Given the description of an element on the screen output the (x, y) to click on. 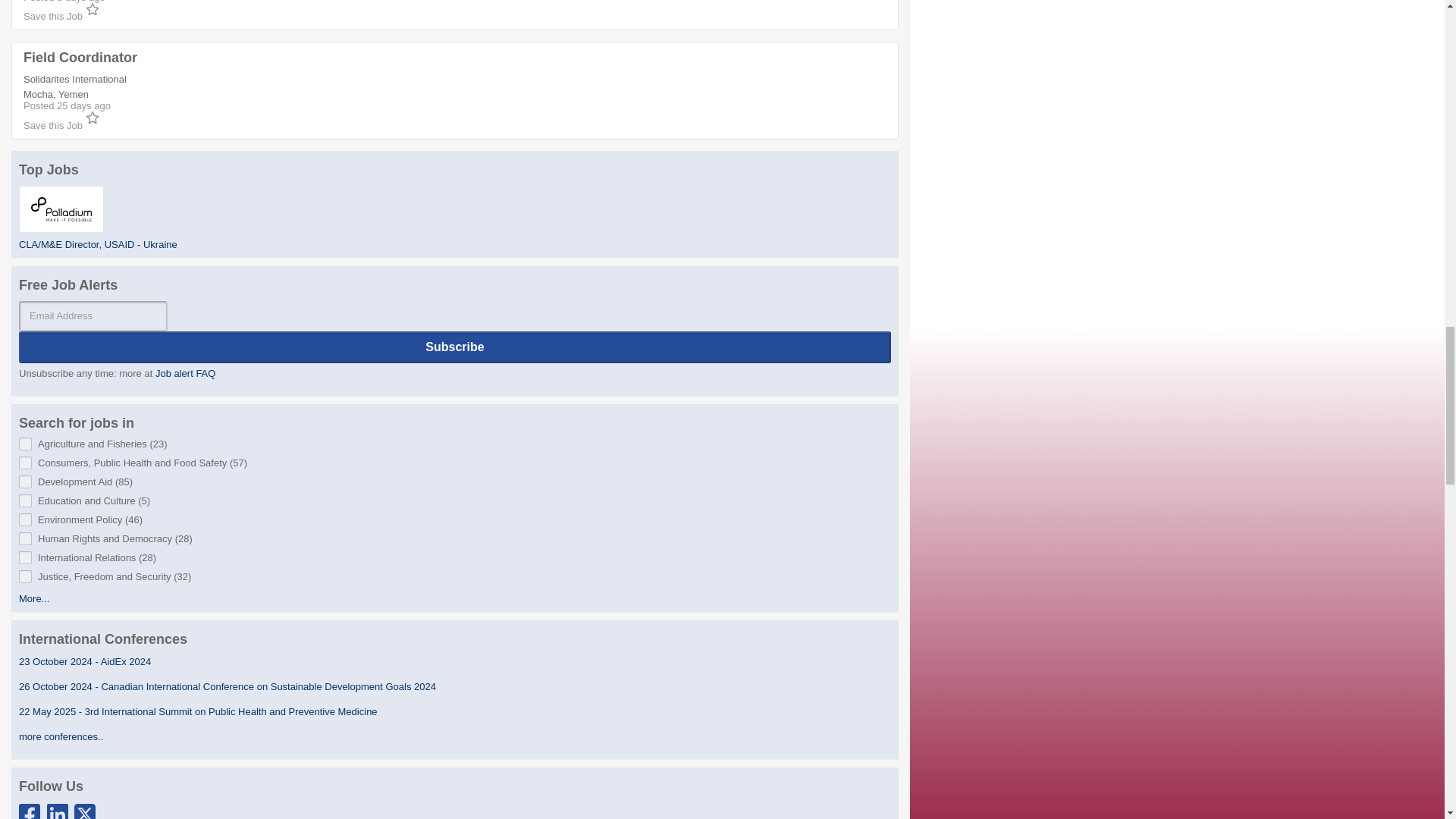
Subscribe (454, 346)
Palladium Group (60, 209)
Save this job (61, 125)
Save this job (61, 16)
